Given the description of an element on the screen output the (x, y) to click on. 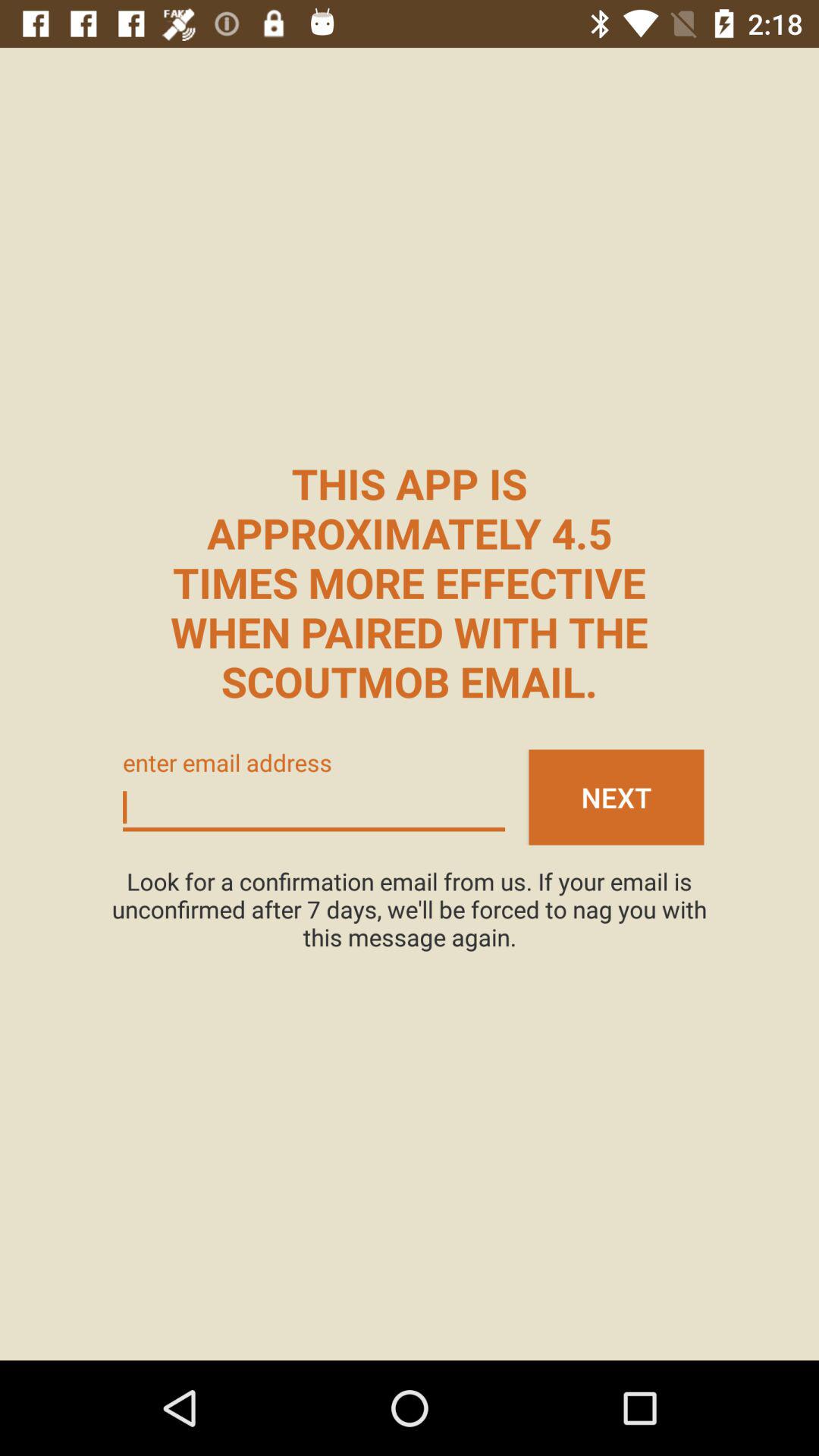
enter email address (313, 808)
